Given the description of an element on the screen output the (x, y) to click on. 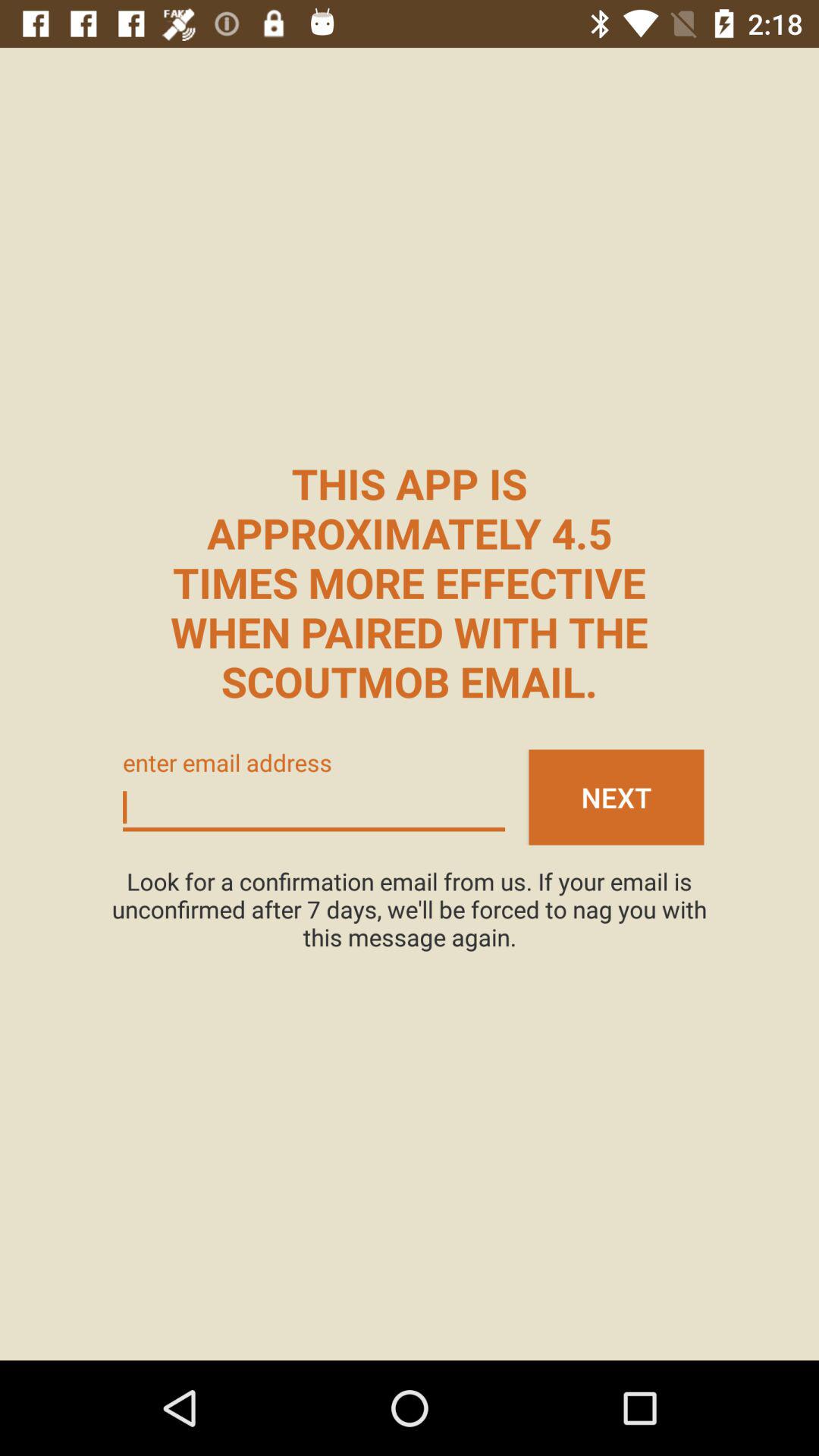
enter email address (313, 808)
